Given the description of an element on the screen output the (x, y) to click on. 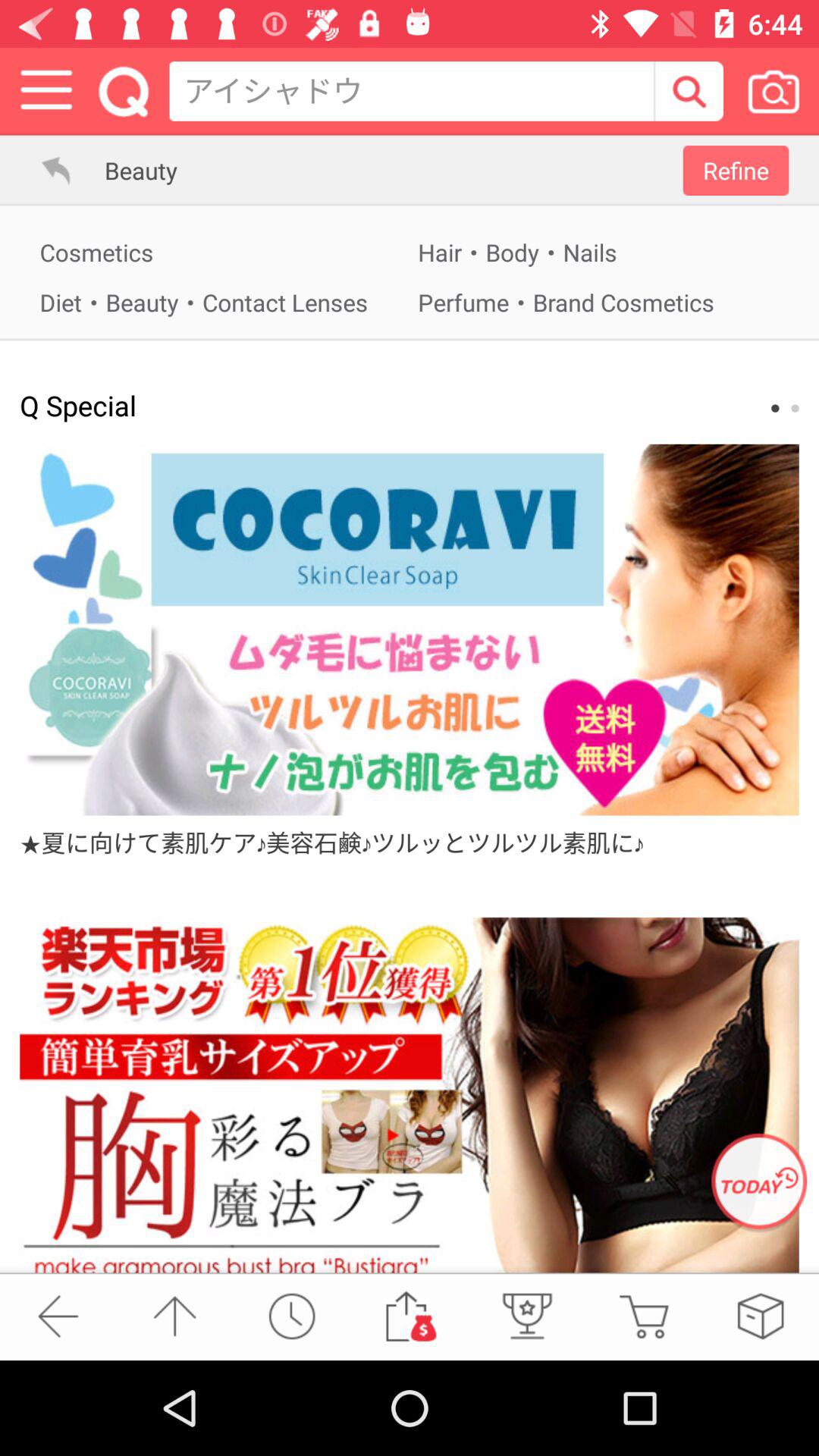
open advertisement (759, 1183)
